Given the description of an element on the screen output the (x, y) to click on. 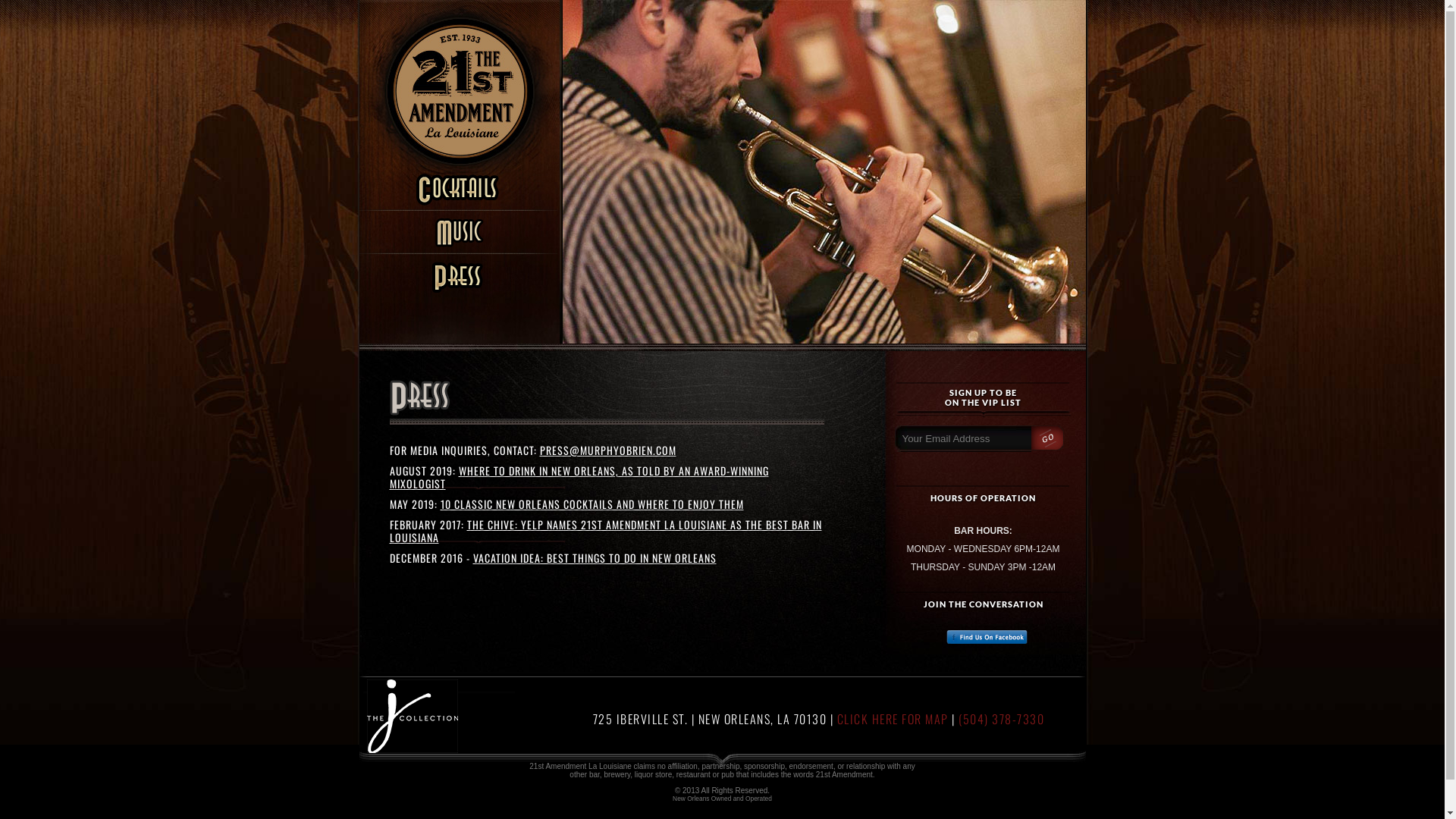
10 CLASSIC NEW ORLEANS COCKTAILS AND WHERE TO ENJOY THEM Element type: text (591, 503)
CLICK HERE FOR MAP Element type: text (892, 718)
PRESS@MURPHYOBRIEN.COM Element type: text (607, 450)
(504) 378-7330 Element type: text (1001, 718)
VACATION IDEA: BEST THINGS TO DO IN NEW ORLEANS Element type: text (594, 557)
